Given the description of an element on the screen output the (x, y) to click on. 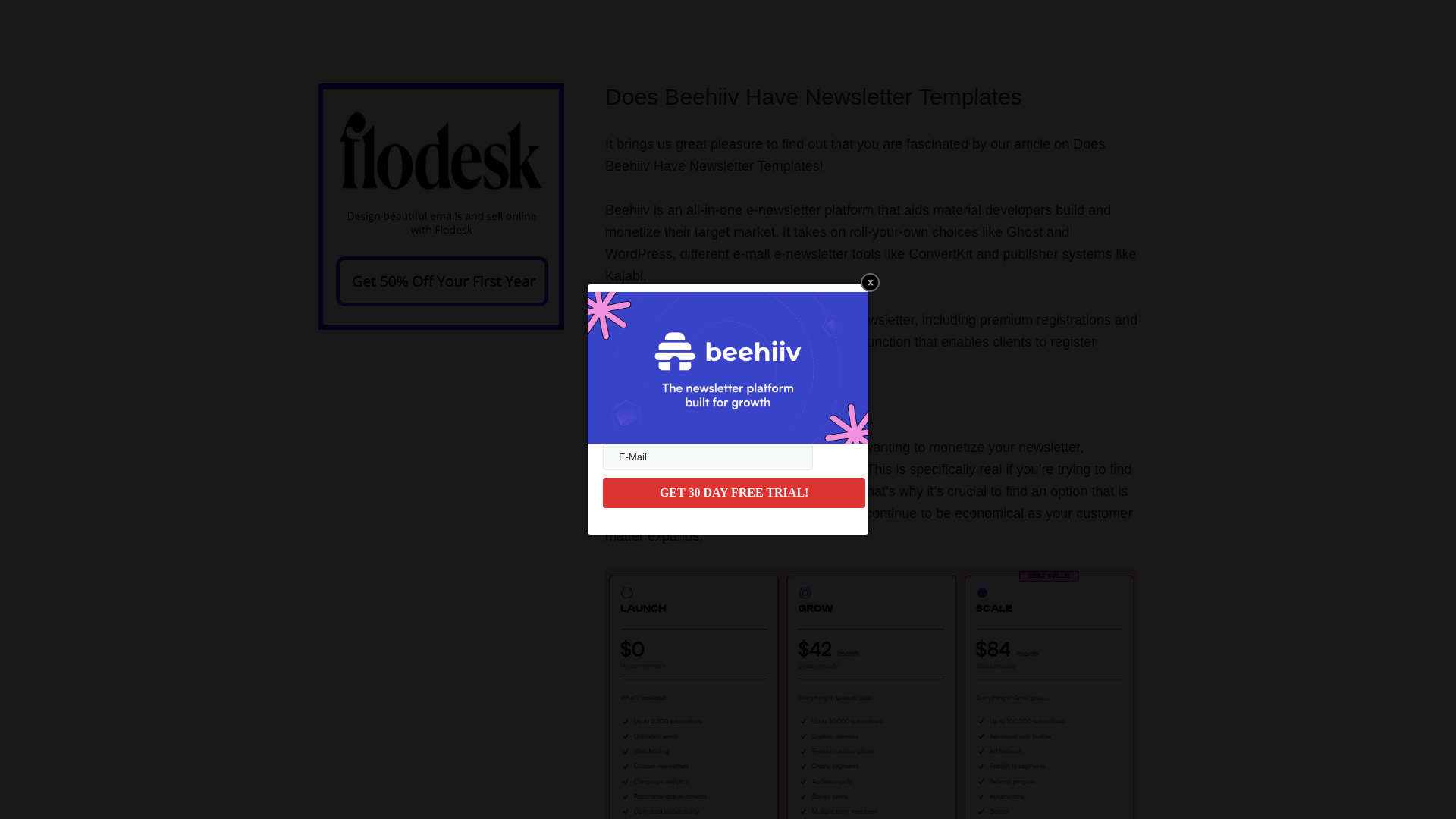
GET 30 DAY FREE TRIAL! (733, 492)
GET 30 DAY FREE TRIAL! (733, 492)
